Given the description of an element on the screen output the (x, y) to click on. 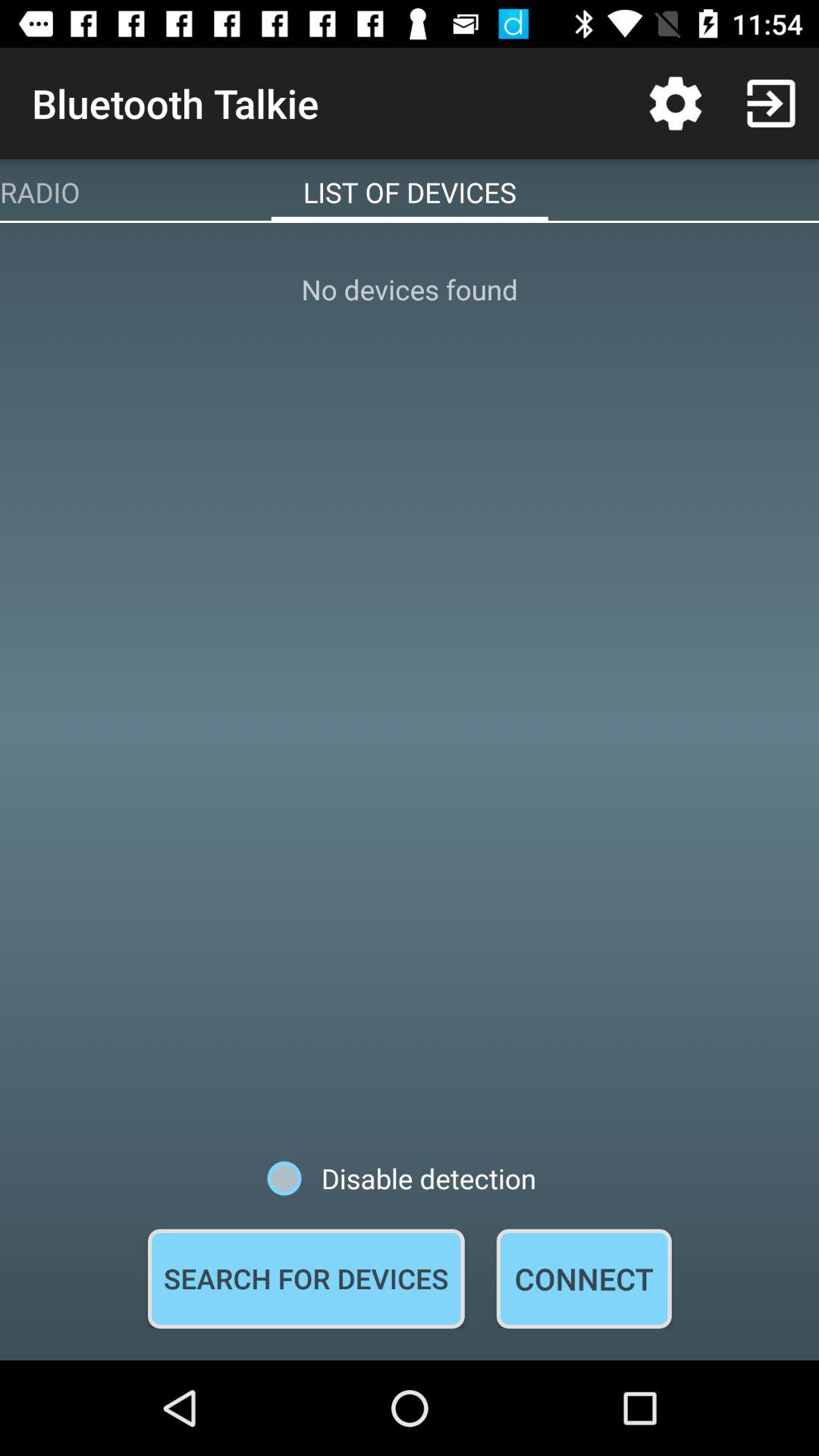
scroll until the search for devices item (305, 1278)
